Given the description of an element on the screen output the (x, y) to click on. 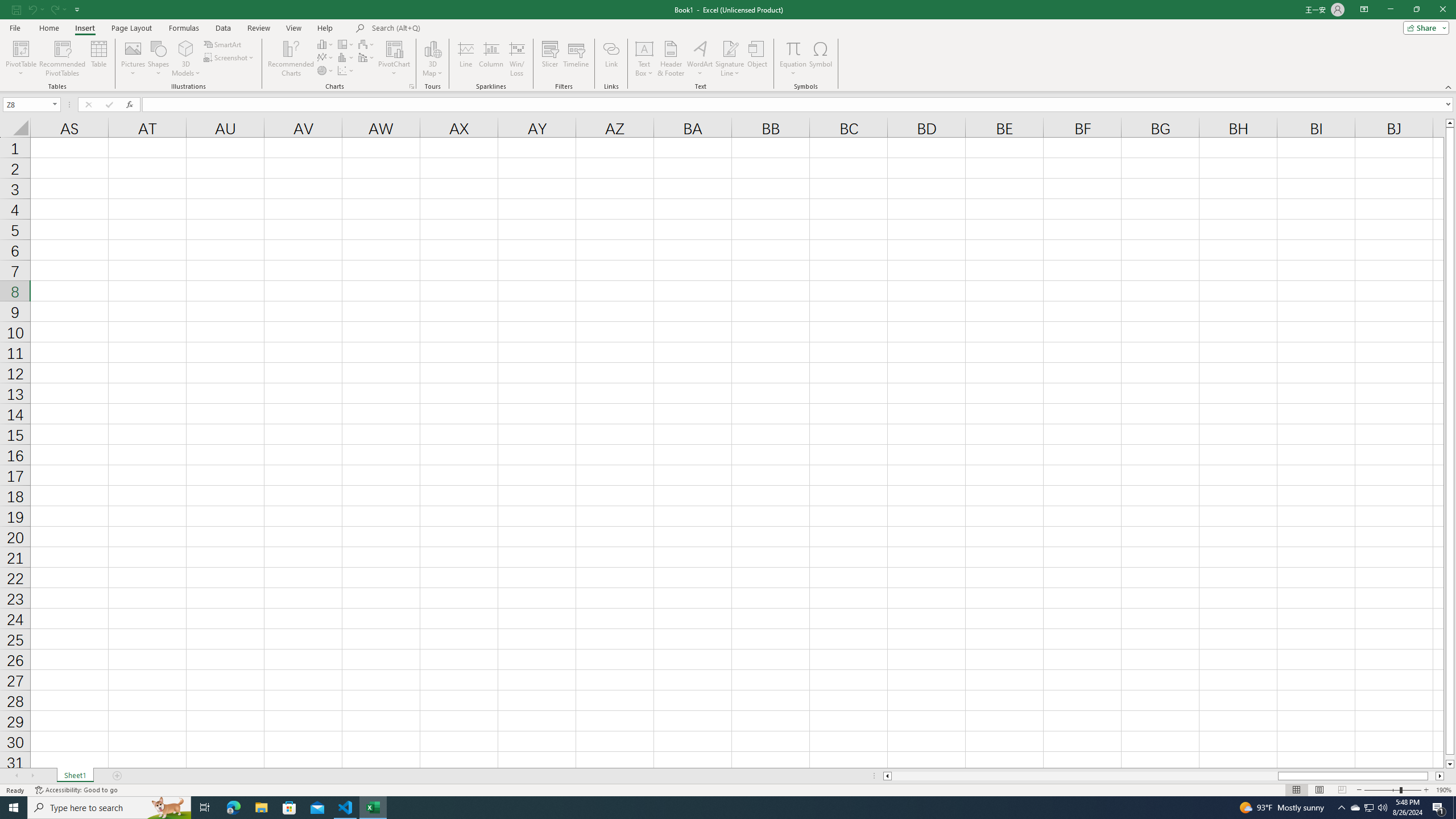
Microsoft search (450, 28)
File Tab (15, 27)
Home (48, 28)
Text Box (643, 58)
Insert Scatter (X, Y) or Bubble Chart (346, 69)
Add Sheet (117, 775)
Open (54, 104)
Normal (1296, 790)
Insert Waterfall, Funnel, Stock, Surface, or Radar Chart (366, 44)
Draw Horizontal Text Box (643, 48)
View (293, 28)
Page left (1084, 775)
Line (465, 58)
PivotTable (20, 58)
